Given the description of an element on the screen output the (x, y) to click on. 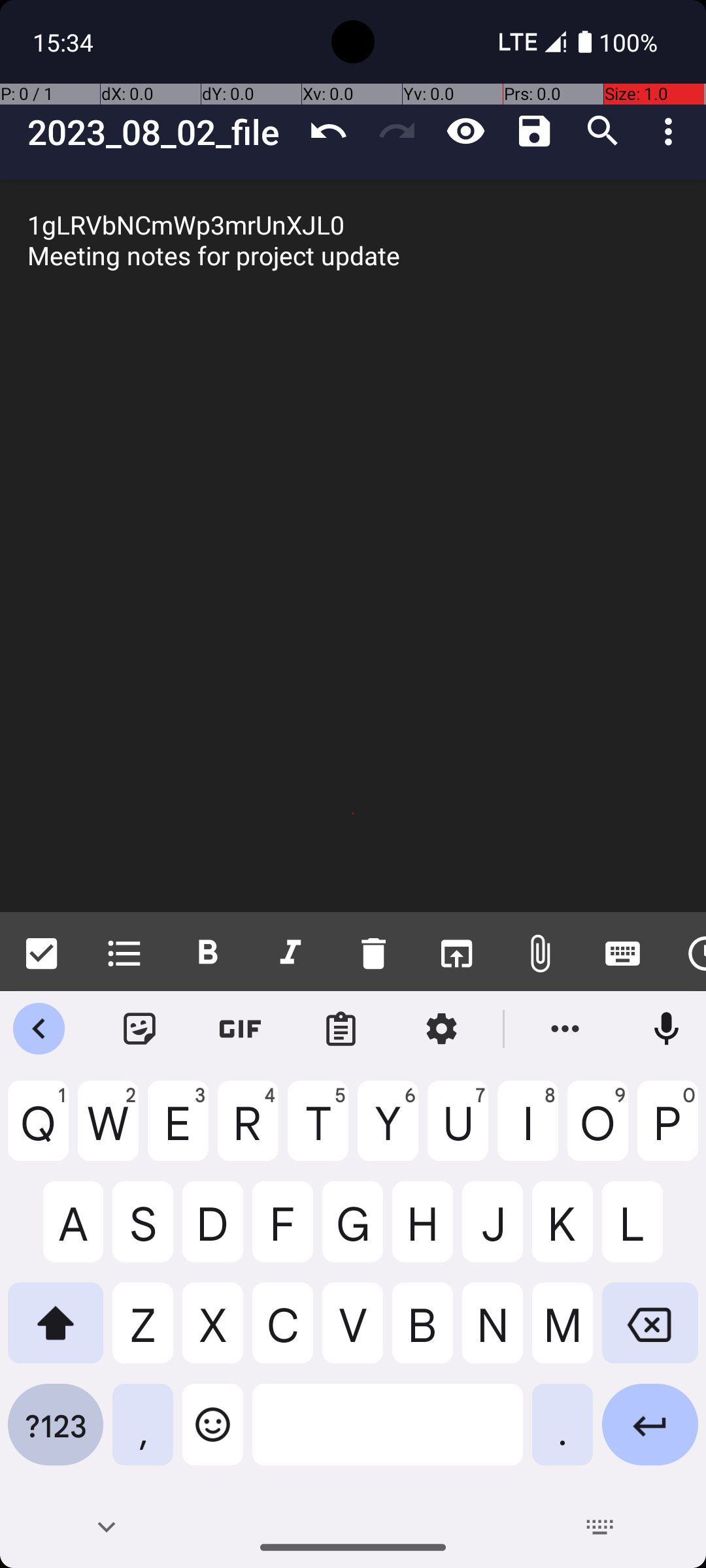
2023_08_02_file Element type: android.widget.TextView (160, 131)
1gLRVbNCmWp3mrUnXJL0
Meeting notes for project update
 Element type: android.widget.EditText (353, 545)
